Given the description of an element on the screen output the (x, y) to click on. 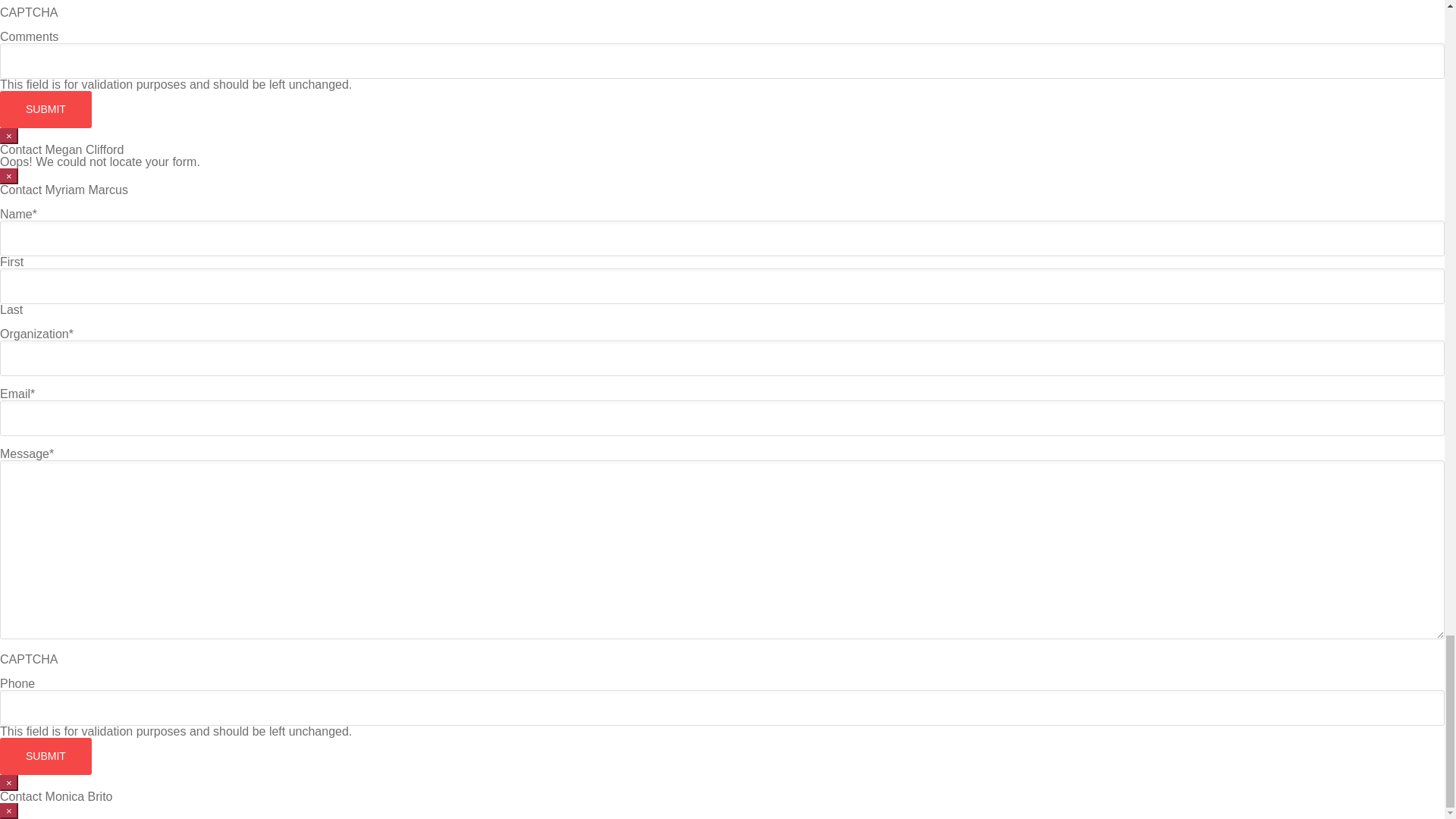
Submit (45, 108)
Submit (45, 755)
